Given the description of an element on the screen output the (x, y) to click on. 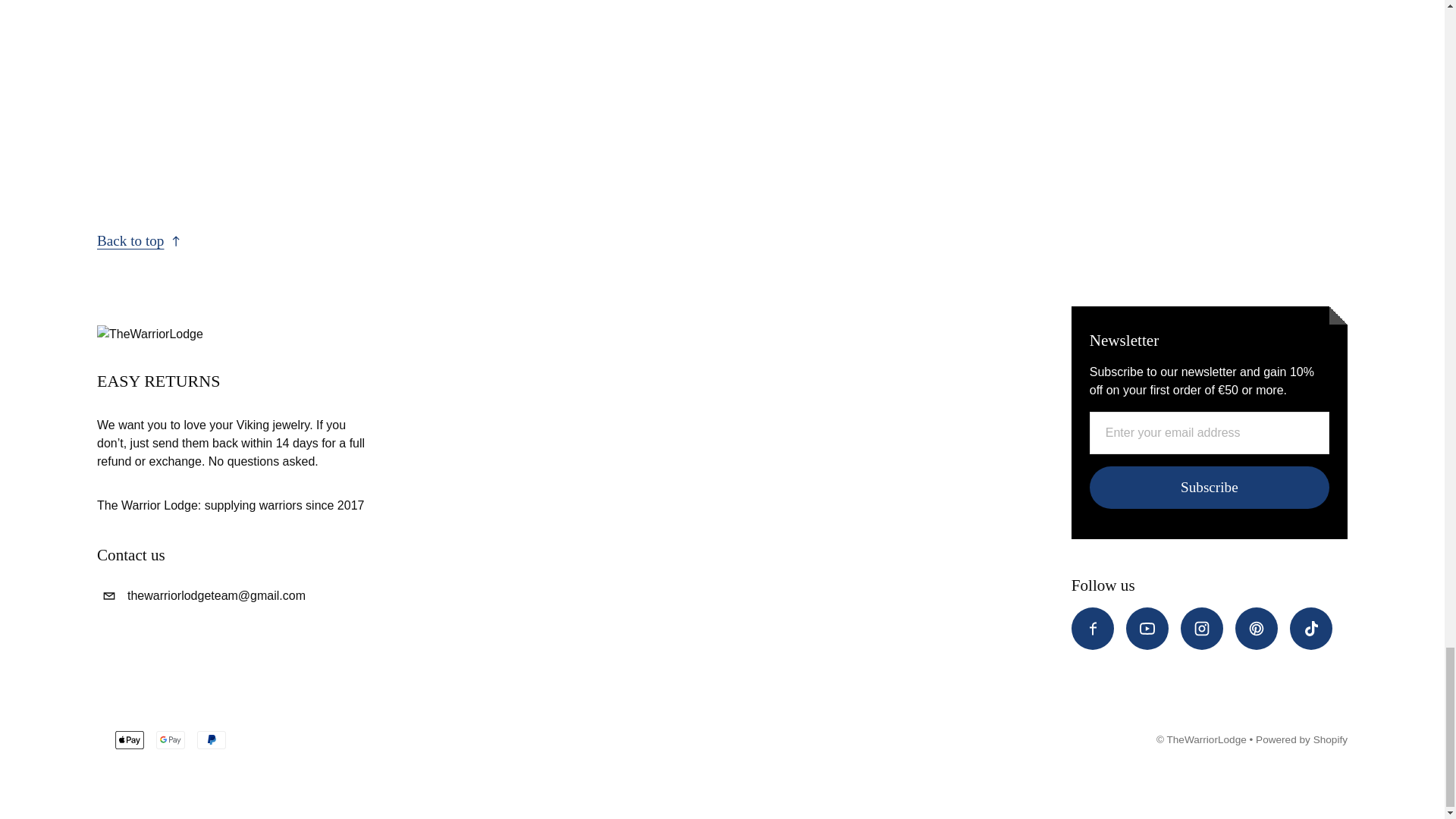
Tiktok (1311, 628)
Pinterest (1256, 628)
Youtube (1147, 628)
Instagram (1201, 628)
